Given the description of an element on the screen output the (x, y) to click on. 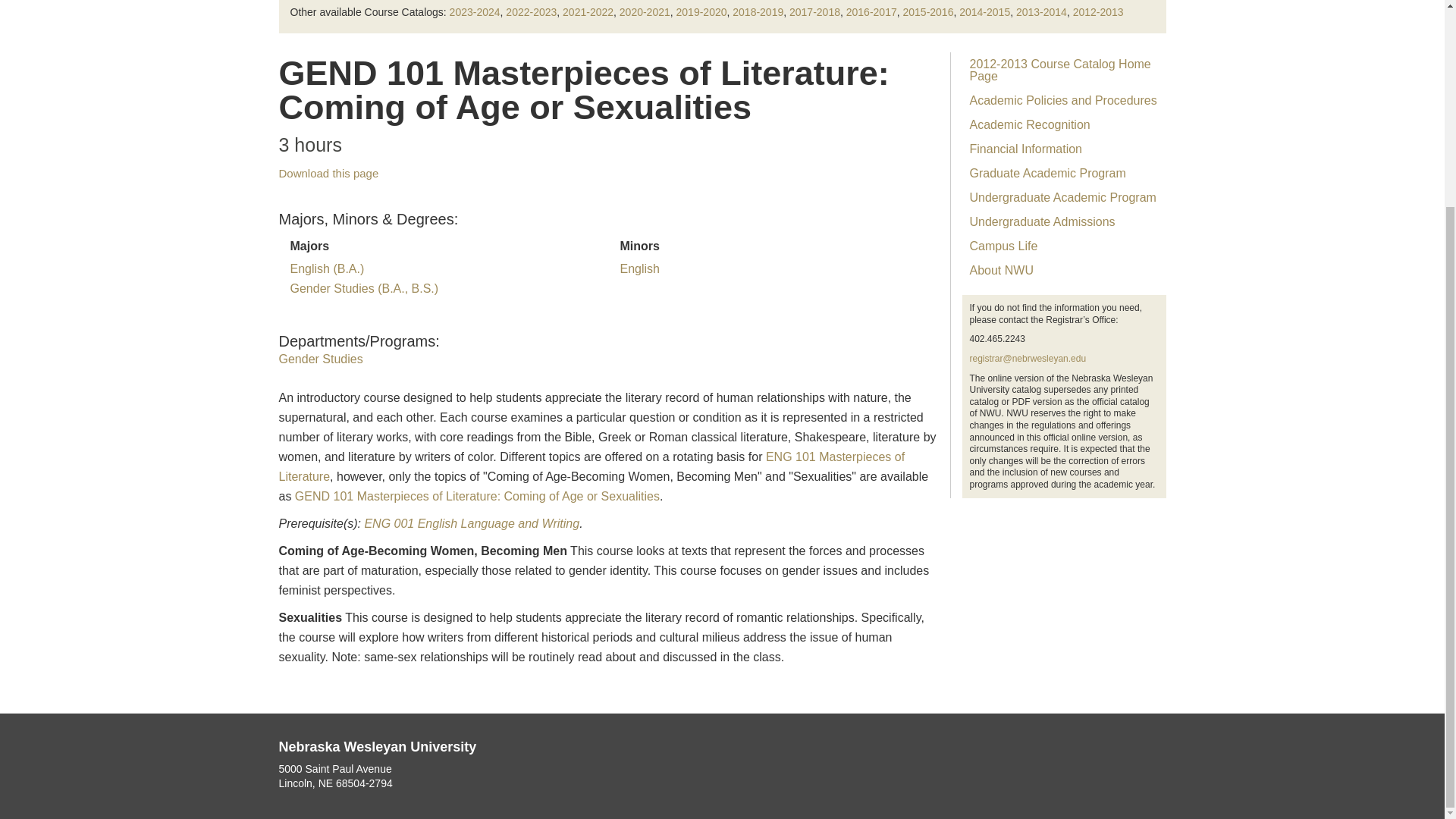
Gender Studies (320, 358)
Campus Life (1063, 246)
About NWU (1063, 270)
2020-2021 (644, 11)
English (639, 268)
ENG 101 Masterpieces of Literature (592, 466)
2023-2024 (474, 11)
2012-2013 (1098, 11)
Graduate Academic Program (1063, 173)
Academic Policies and Procedures (1063, 100)
2017-2018 (814, 11)
Undergraduate Admissions (1063, 221)
2013-2014 (1041, 11)
2022-2023 (530, 11)
